Given the description of an element on the screen output the (x, y) to click on. 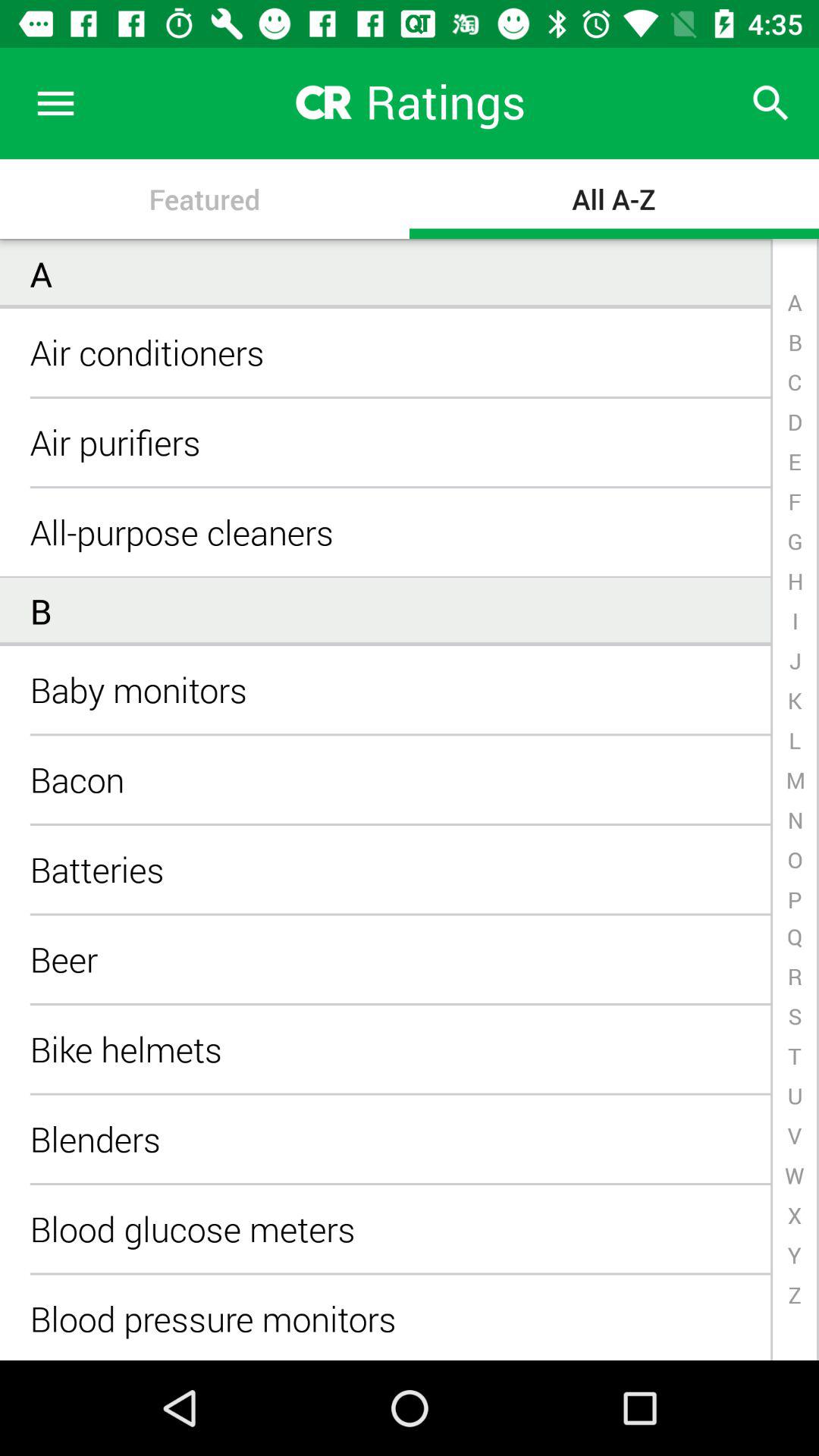
press the icon above the a icon (55, 103)
